Given the description of an element on the screen output the (x, y) to click on. 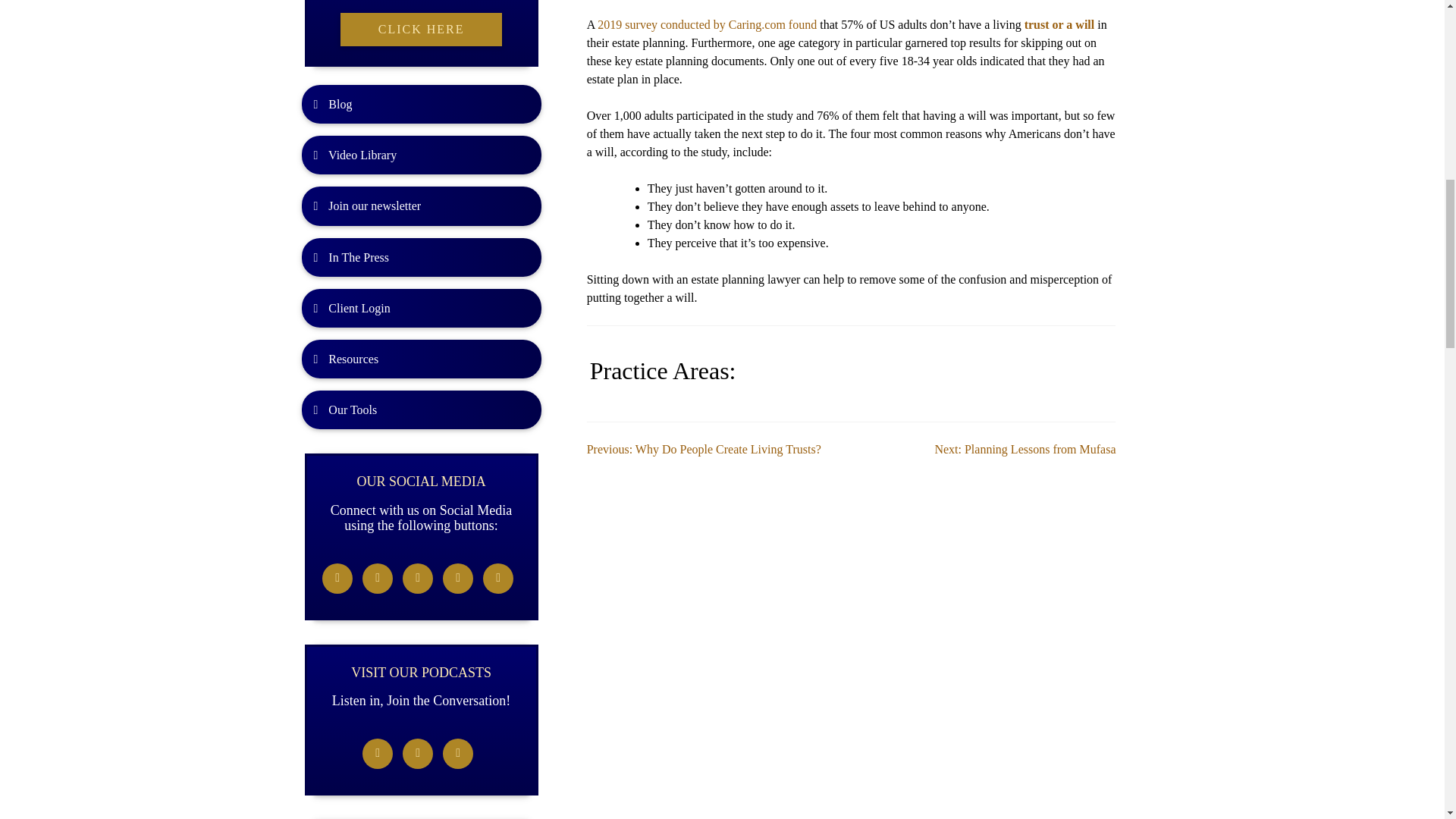
Our Tools (421, 403)
Blog (421, 97)
Resources (421, 352)
Video Library (421, 148)
Join our newsletter (421, 199)
Client Login (421, 301)
CLICK HERE (421, 23)
In The Press (421, 251)
